Given the description of an element on the screen output the (x, y) to click on. 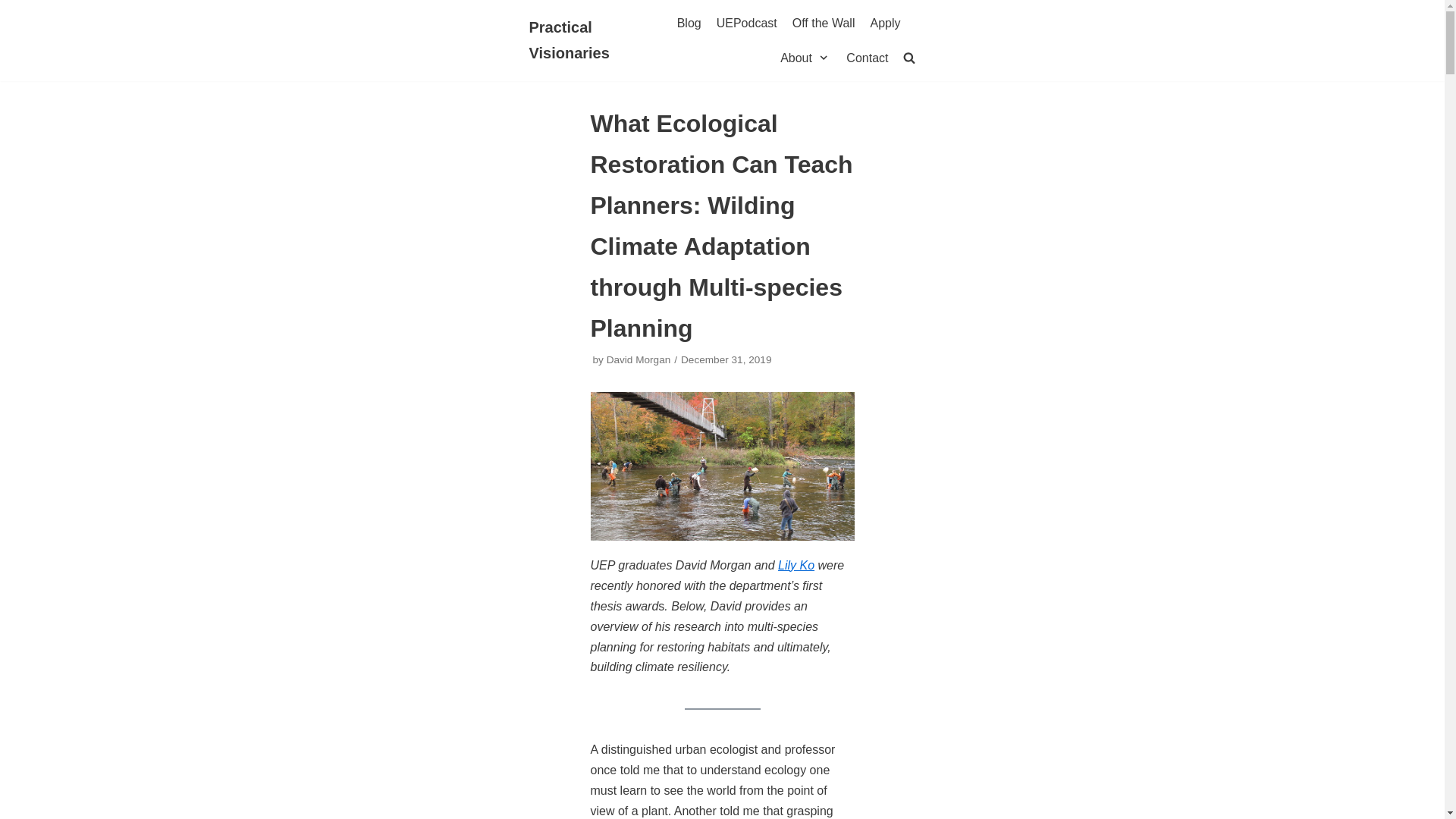
Lily Ko (795, 564)
David Morgan (639, 359)
Off the Wall (824, 23)
Contact (866, 57)
About (805, 57)
Practical Visionaries (586, 40)
Blog (689, 23)
Skip to content (15, 31)
Search (882, 95)
Posts by David Morgan (639, 359)
UEPodcast (746, 23)
Apply (884, 23)
Practical Visionaries (586, 40)
